Given the description of an element on the screen output the (x, y) to click on. 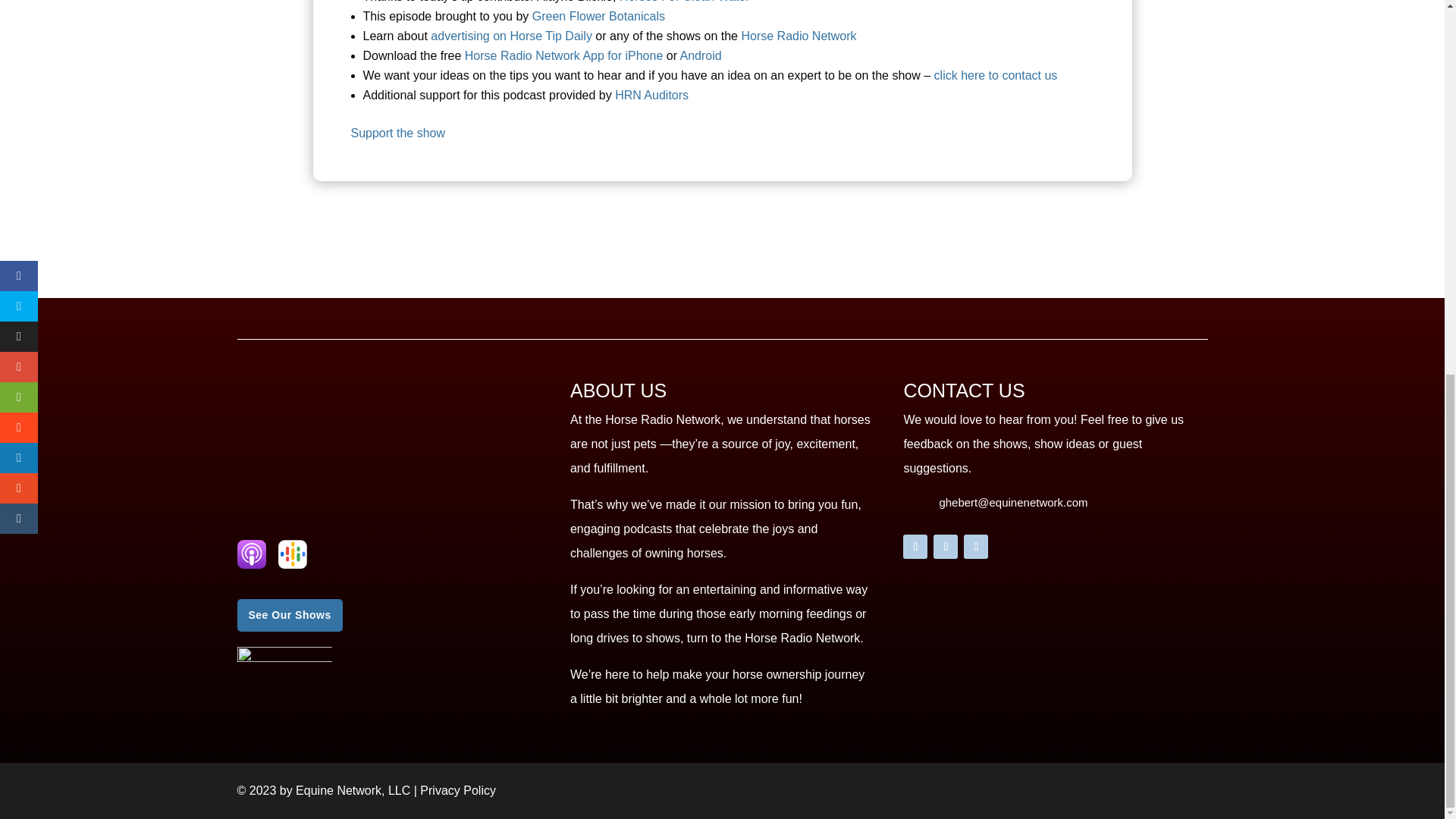
click here to contact us (996, 74)
advertising on Horse Tip Daily (512, 35)
Follow on Instagram (975, 546)
Support the show (397, 132)
Follow on X (945, 546)
Green Flower Botanicals (598, 15)
Horse Radio Network App for iPhone (561, 55)
Horse Radio Network (798, 35)
HRN Auditors (651, 94)
Android (700, 55)
